Given the description of an element on the screen output the (x, y) to click on. 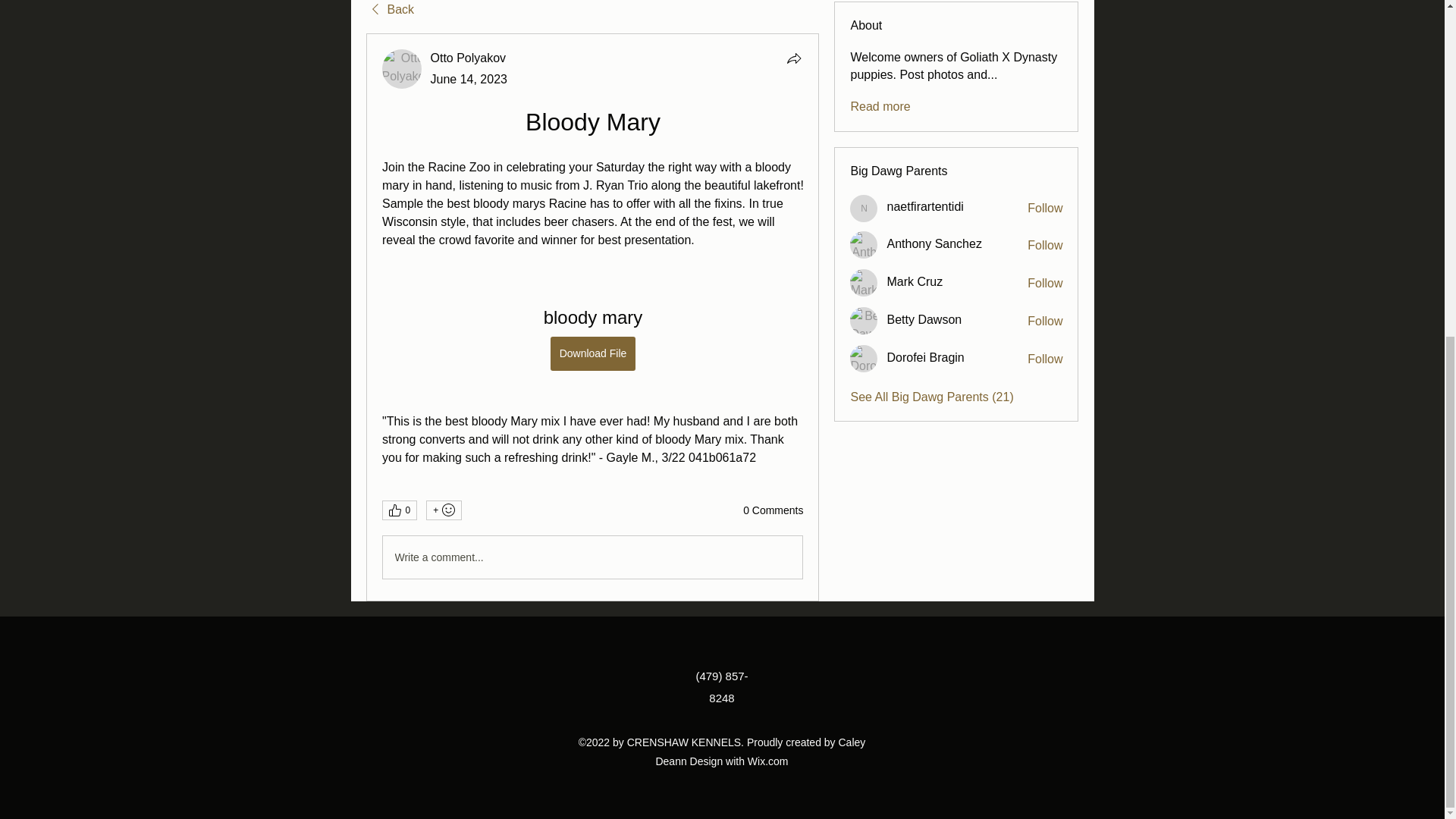
naetfirartentidi (863, 207)
Mark Cruz (863, 282)
Betty Dawson (863, 320)
Follow (1044, 245)
Otto Polyakov (401, 68)
Otto Polyakov (468, 57)
Anthony Sanchez (933, 243)
Anthony Sanchez (863, 244)
Download File (592, 353)
